Given the description of an element on the screen output the (x, y) to click on. 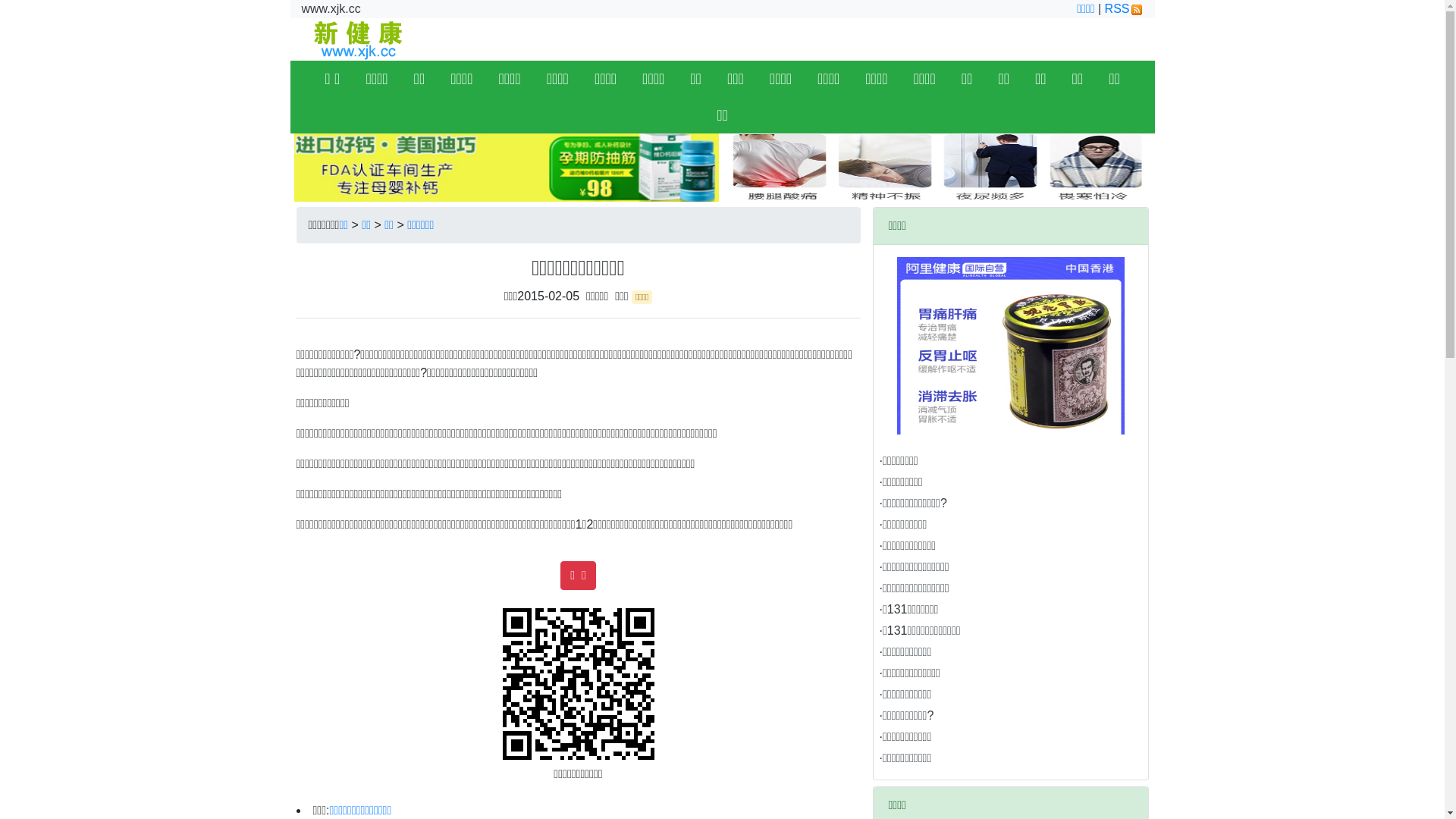
RSS Element type: text (1123, 8)
